Given the description of an element on the screen output the (x, y) to click on. 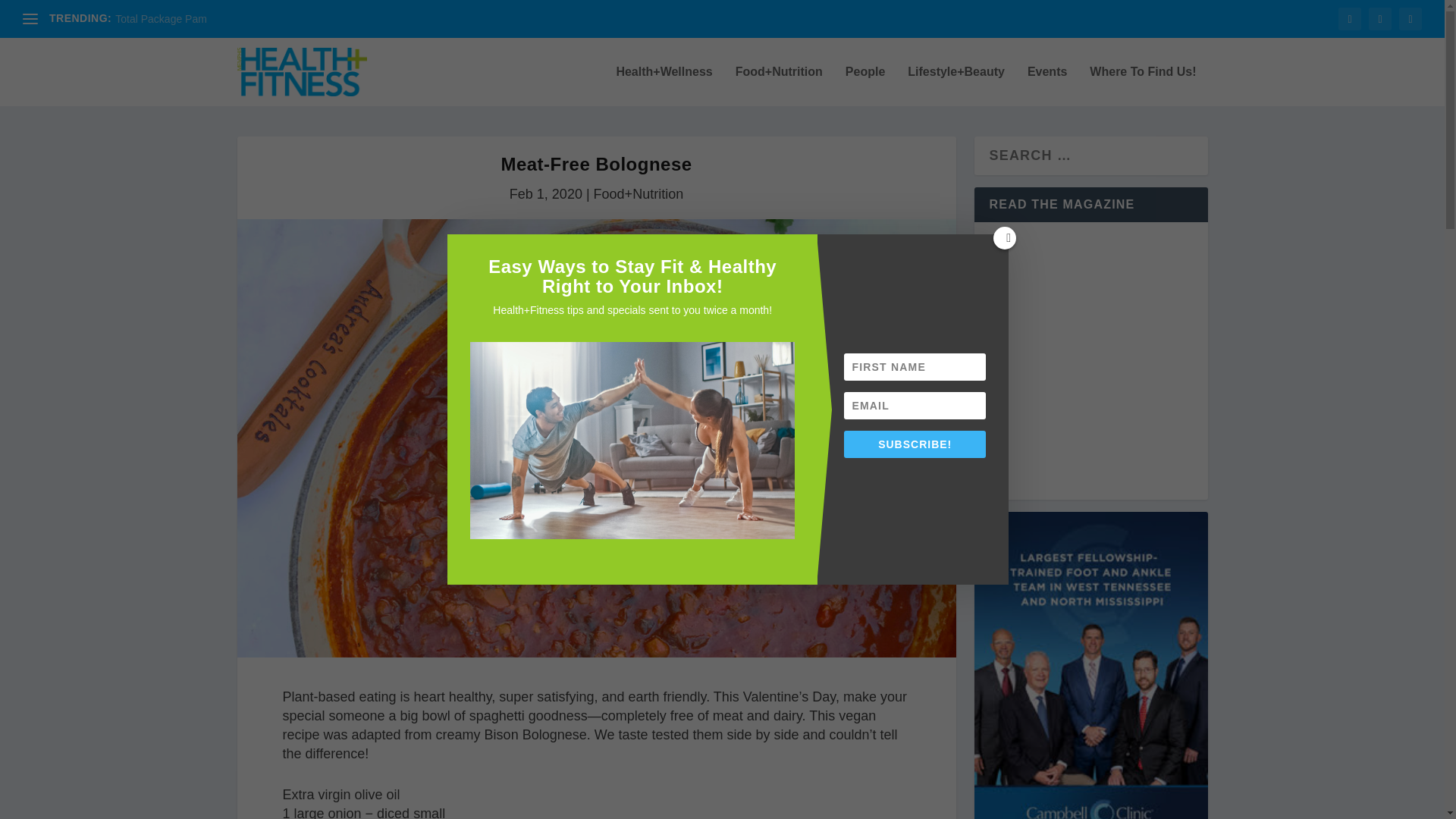
Total Package Pam (160, 19)
Where To Find Us! (1142, 86)
People (865, 86)
Events (1047, 86)
Search (37, 15)
